Given the description of an element on the screen output the (x, y) to click on. 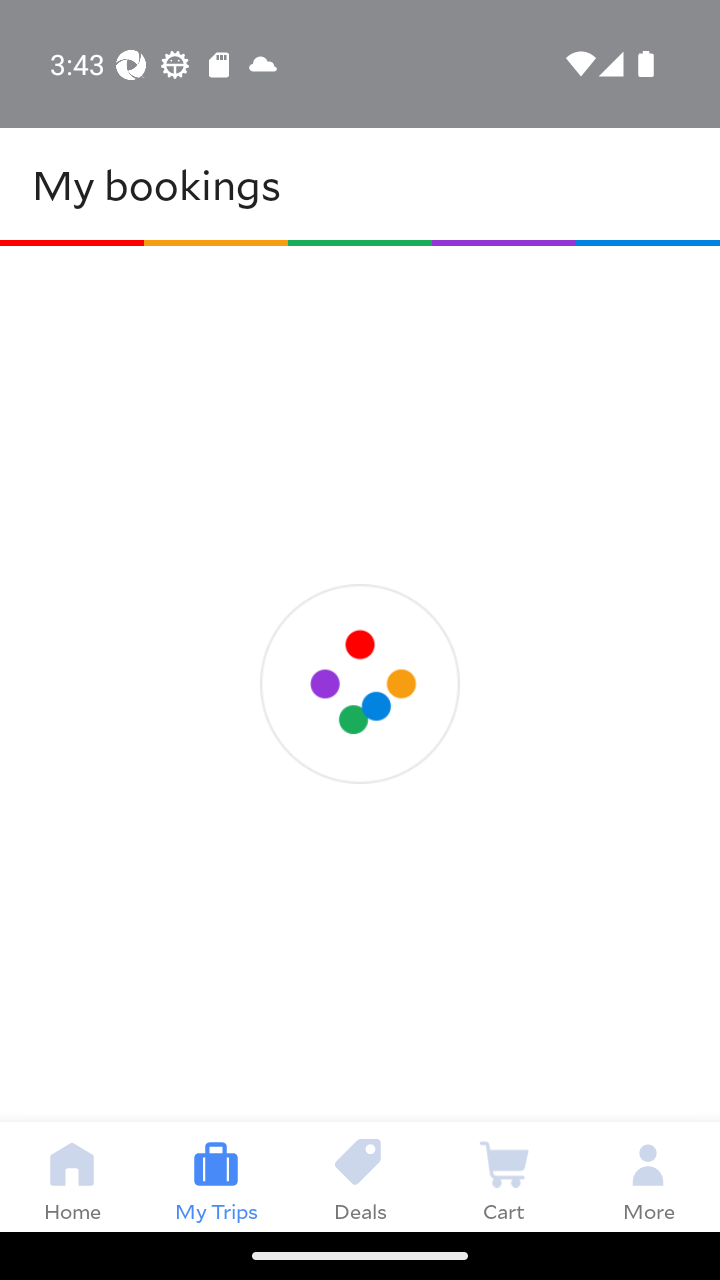
Home (72, 1176)
My Trips (216, 1176)
Deals (360, 1176)
Cart (504, 1176)
More (648, 1176)
